Given the description of an element on the screen output the (x, y) to click on. 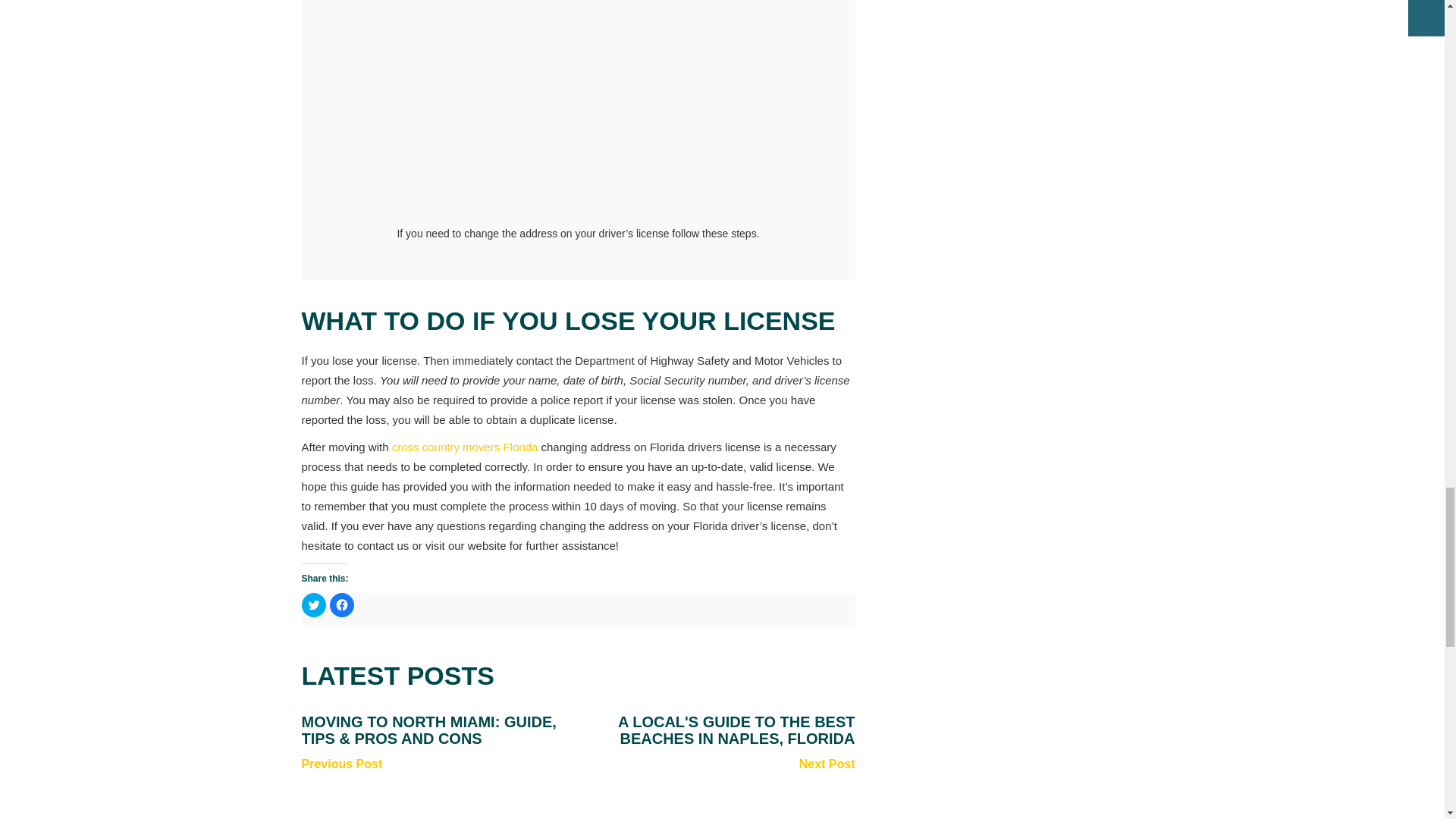
Previous Post (341, 763)
Click to share on Facebook (341, 604)
Next Post (827, 763)
cross country movers Florida (464, 446)
Click to share on Twitter (313, 604)
